Given the description of an element on the screen output the (x, y) to click on. 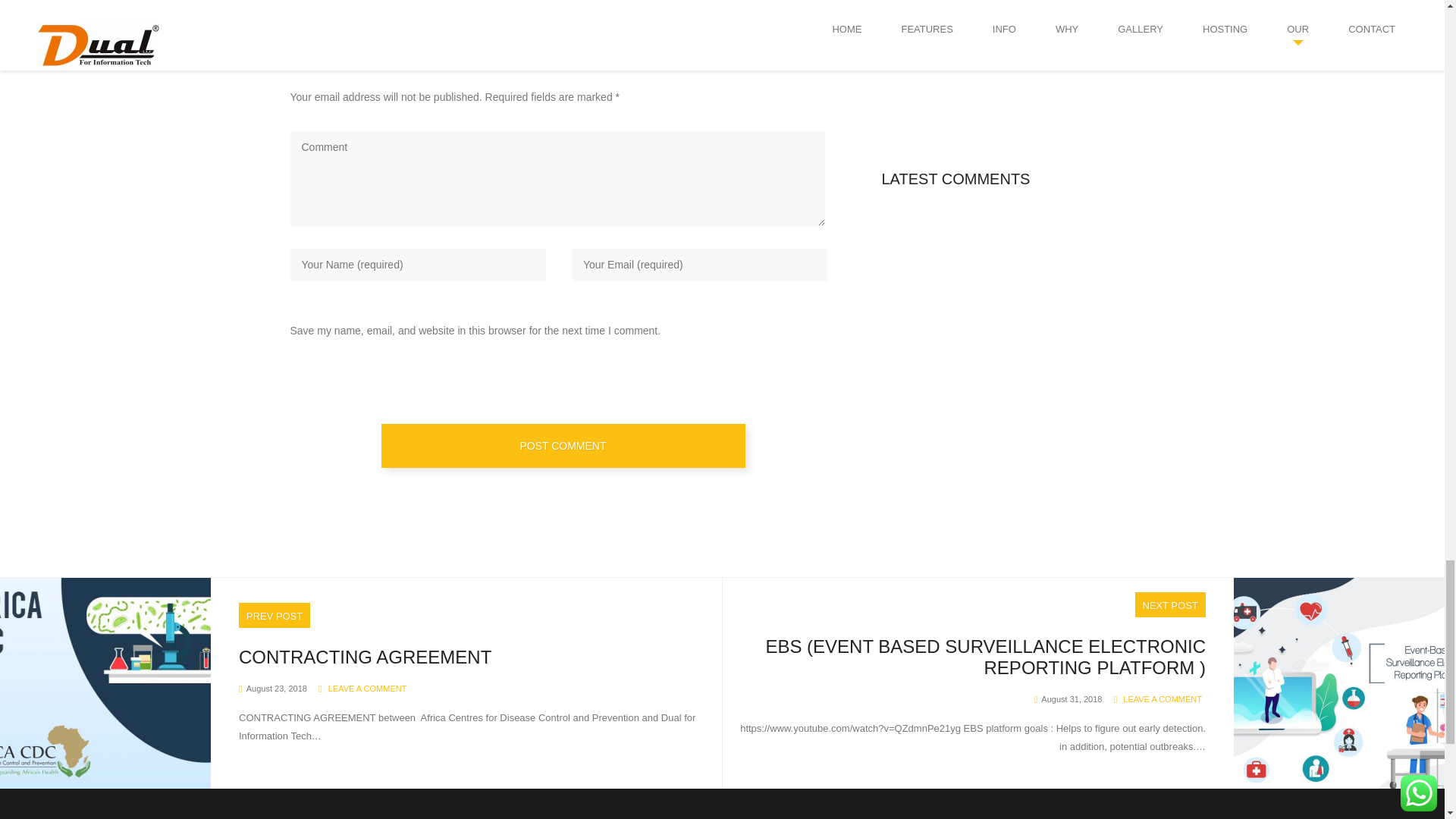
Post Comment (562, 445)
